Given the description of an element on the screen output the (x, y) to click on. 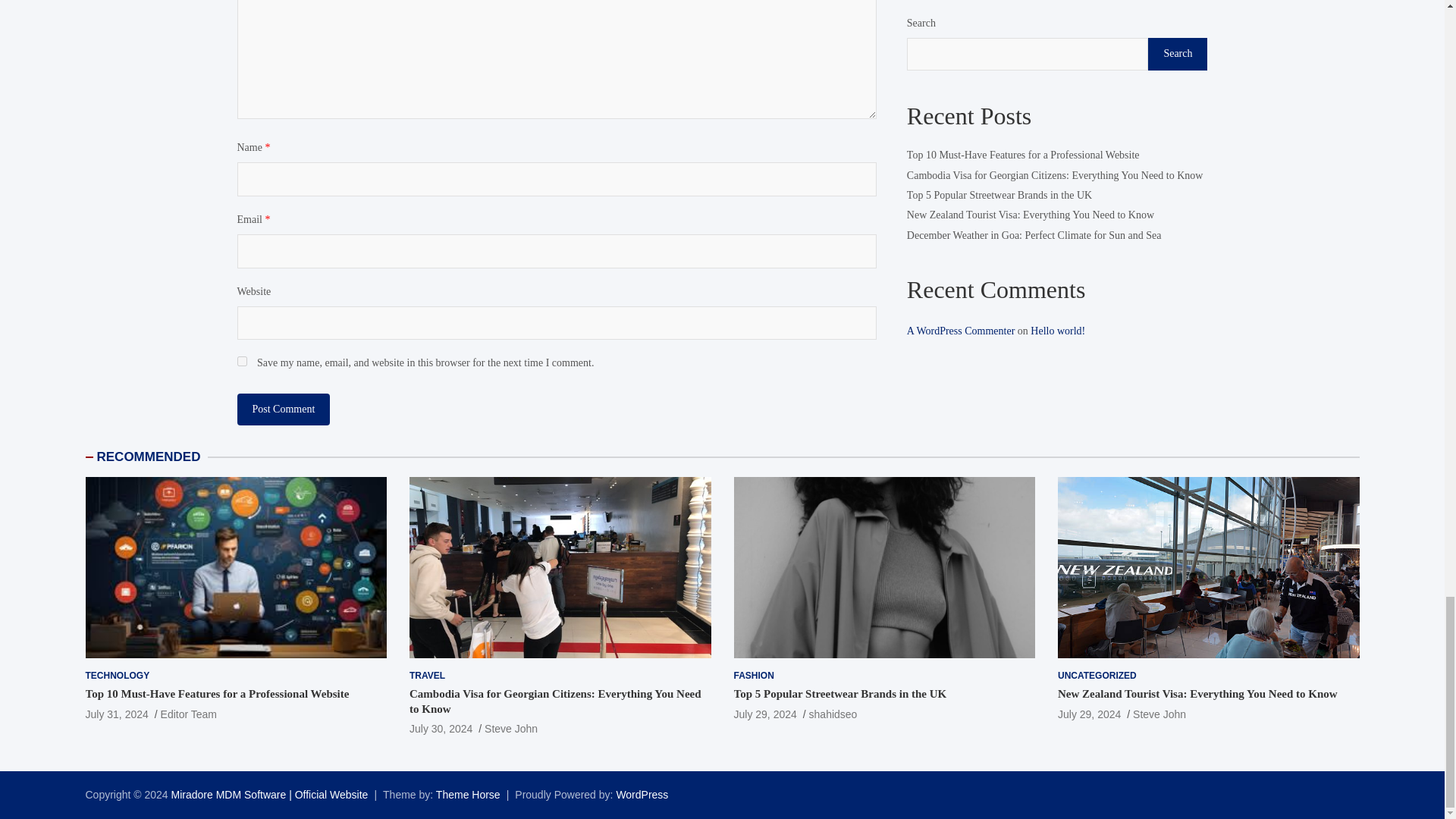
yes (240, 361)
WordPress (641, 794)
TECHNOLOGY (116, 676)
Theme Horse (467, 794)
New Zealand Tourist Visa: Everything You Need to Know (1089, 713)
Post Comment (282, 409)
RECOMMENDED (148, 456)
Top 10 Must-Have Features for a Professional Website (216, 693)
Post Comment (282, 409)
Top 10 Must-Have Features for a Professional Website (116, 713)
Top 5 Popular Streetwear Brands in the UK (764, 713)
